Given the description of an element on the screen output the (x, y) to click on. 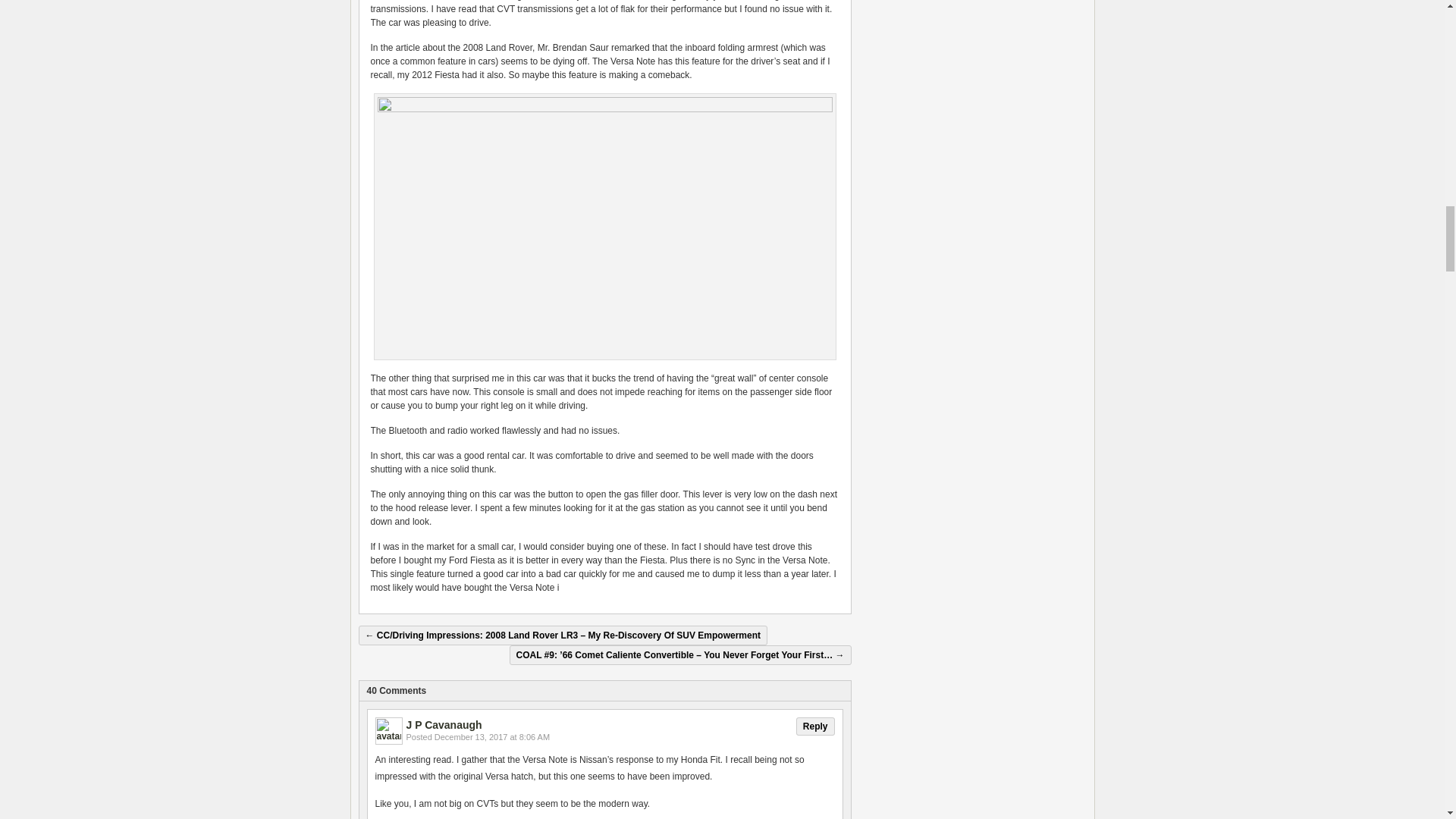
2017-12-13T08:06:44-08:00 (491, 737)
